Given the description of an element on the screen output the (x, y) to click on. 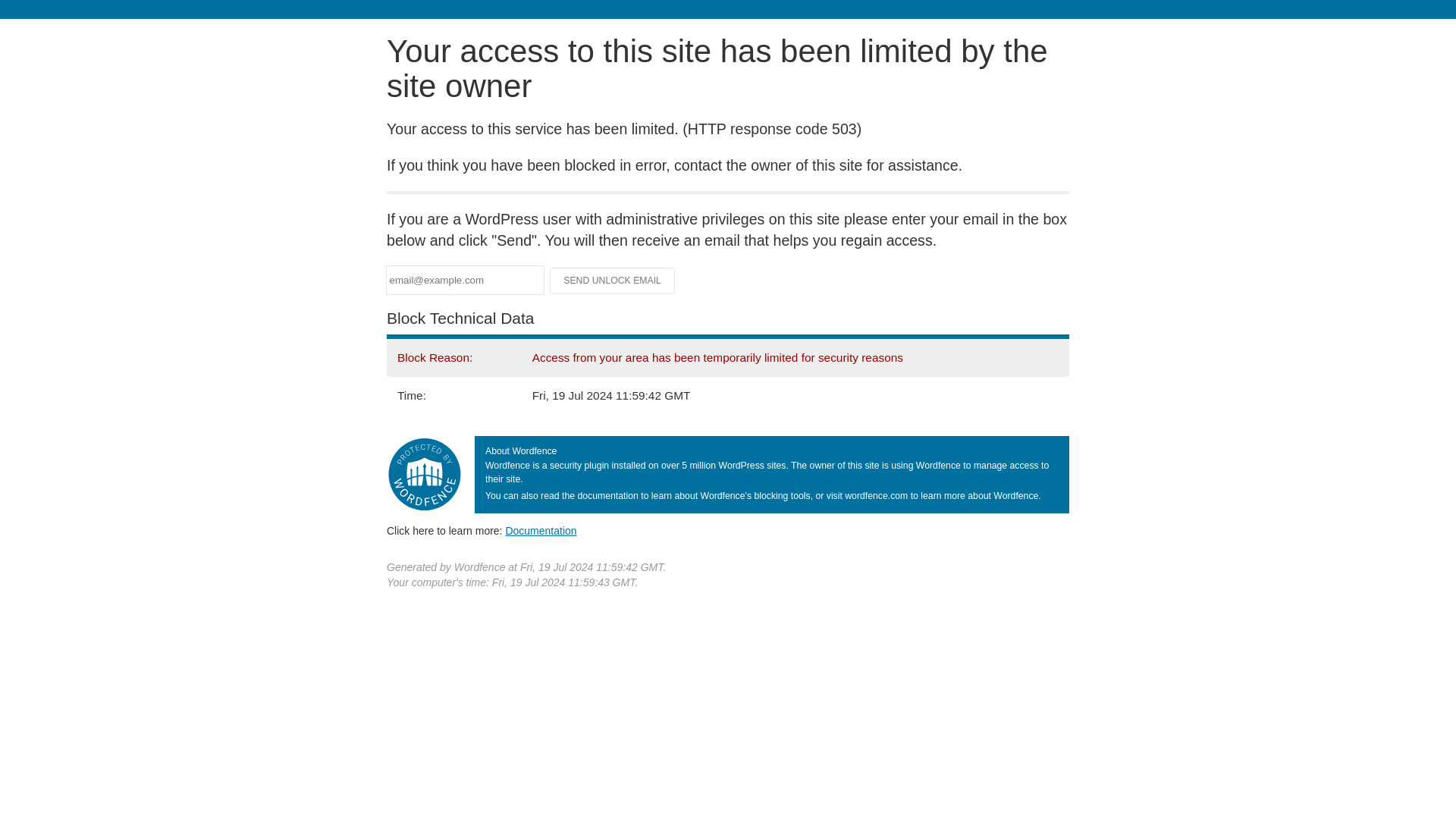
Send Unlock Email (612, 280)
Send Unlock Email (612, 280)
